Given the description of an element on the screen output the (x, y) to click on. 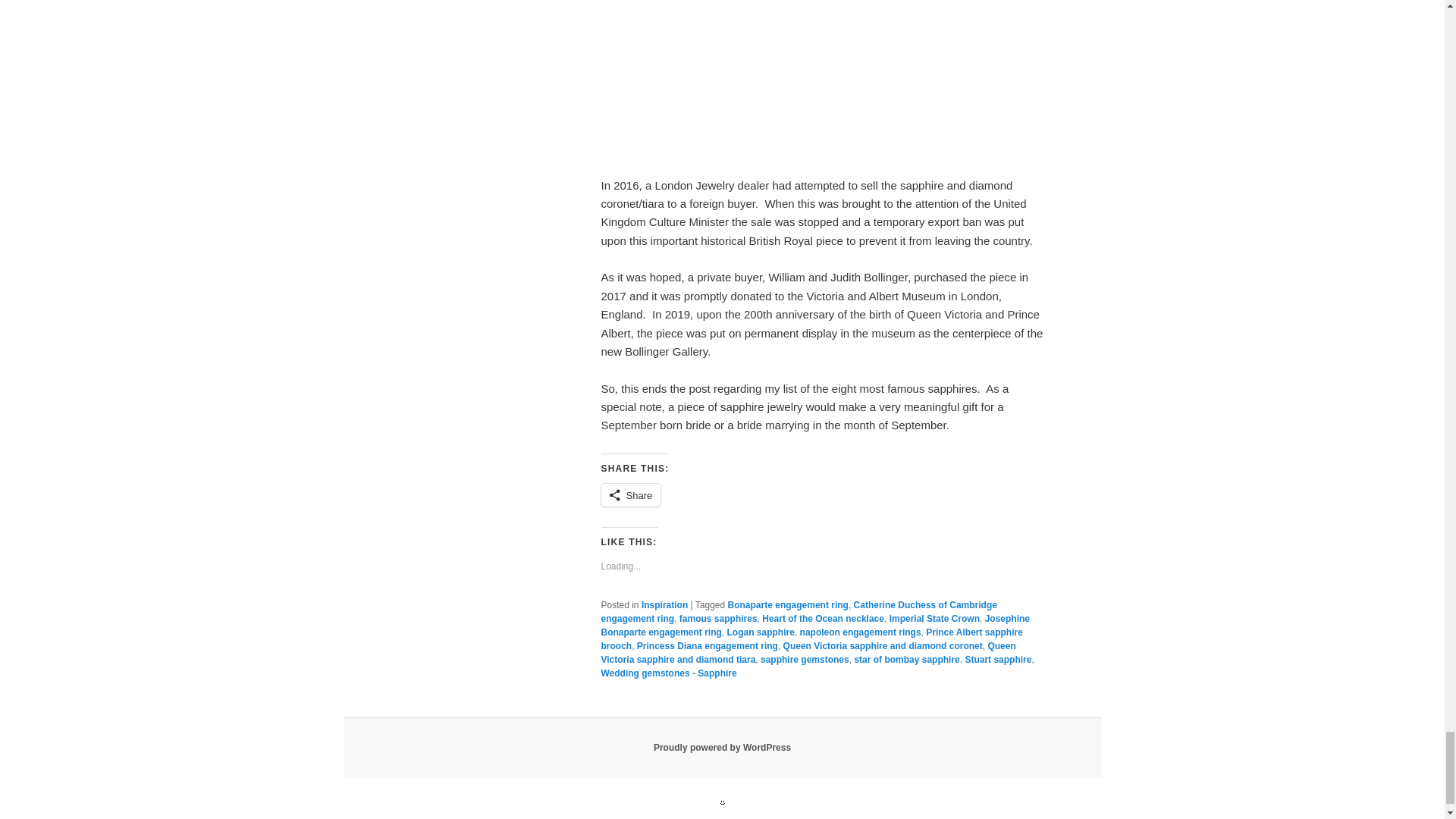
Josephine Bonaparte engagement ring (814, 625)
Heart of the Ocean necklace (822, 618)
Inspiration (664, 604)
Catherine Duchess of Cambridge engagement ring (797, 611)
Prince Albert sapphire brooch (810, 639)
famous sapphires (718, 618)
Share (630, 495)
Princess Diana engagement ring (707, 645)
Queen Victoria sapphire and diamond tiara (806, 652)
napoleon engagement rings (860, 632)
